Given the description of an element on the screen output the (x, y) to click on. 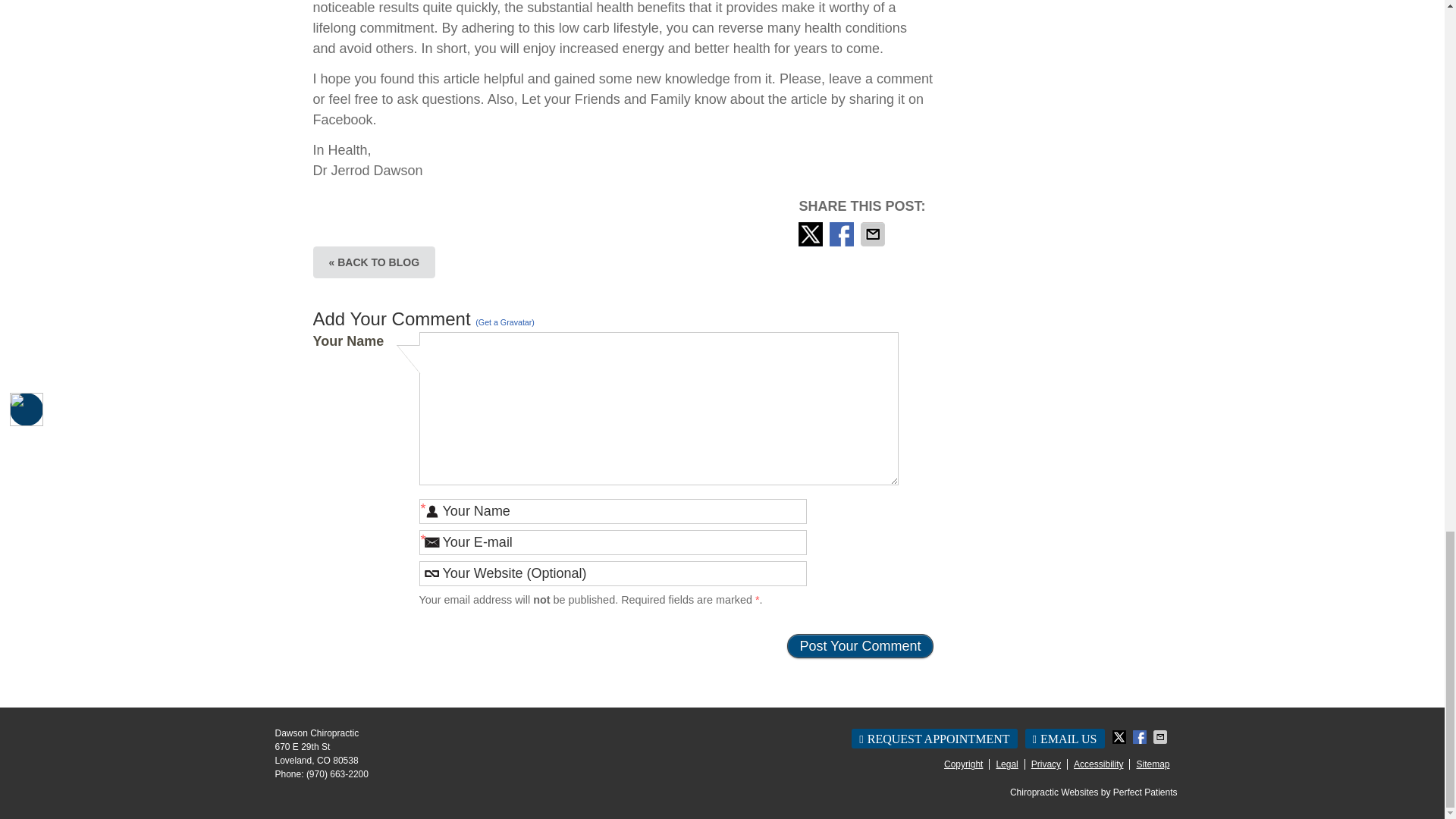
Share on Facebook (843, 233)
Your Name (612, 511)
Post Your Comment (860, 645)
Your E-mail (612, 542)
Contact (1065, 738)
Your E-mail (612, 542)
Share on Twitter (811, 233)
Your Name (612, 511)
Footer Links (1053, 763)
